Given the description of an element on the screen output the (x, y) to click on. 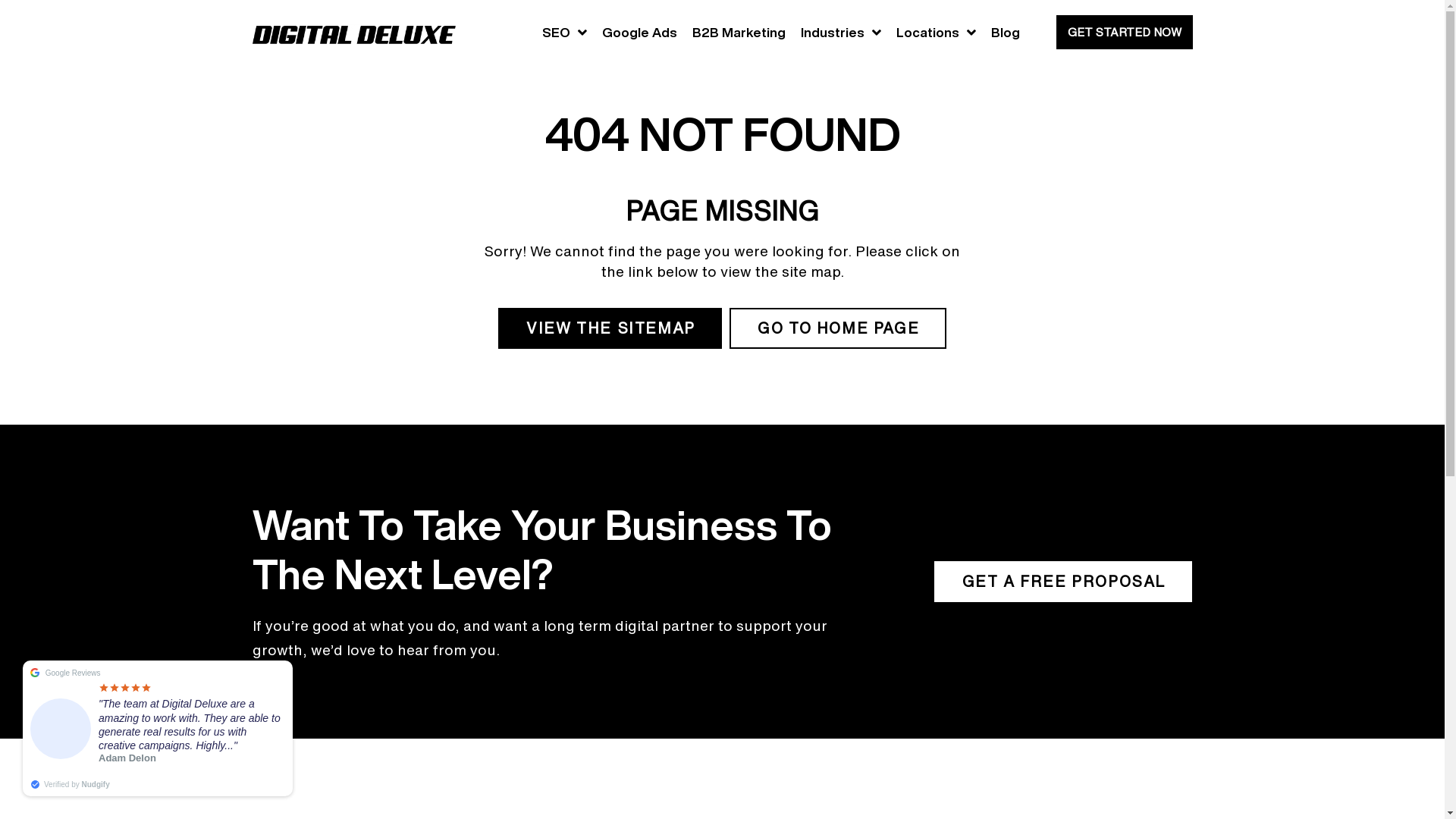
GET A FREE PROPOSAL Element type: text (1063, 581)
GO TO HOME PAGE Element type: text (837, 327)
Google Ads Element type: text (639, 32)
VIEW THE SITEMAP Element type: text (609, 327)
B2B Marketing Element type: text (738, 32)
Blog Element type: text (1004, 32)
SEO Element type: text (563, 32)
GET STARTED NOW Element type: text (1123, 32)
Locations Element type: text (935, 32)
Industries Element type: text (840, 32)
Verified by Nudgify Element type: text (70, 784)
